Given the description of an element on the screen output the (x, y) to click on. 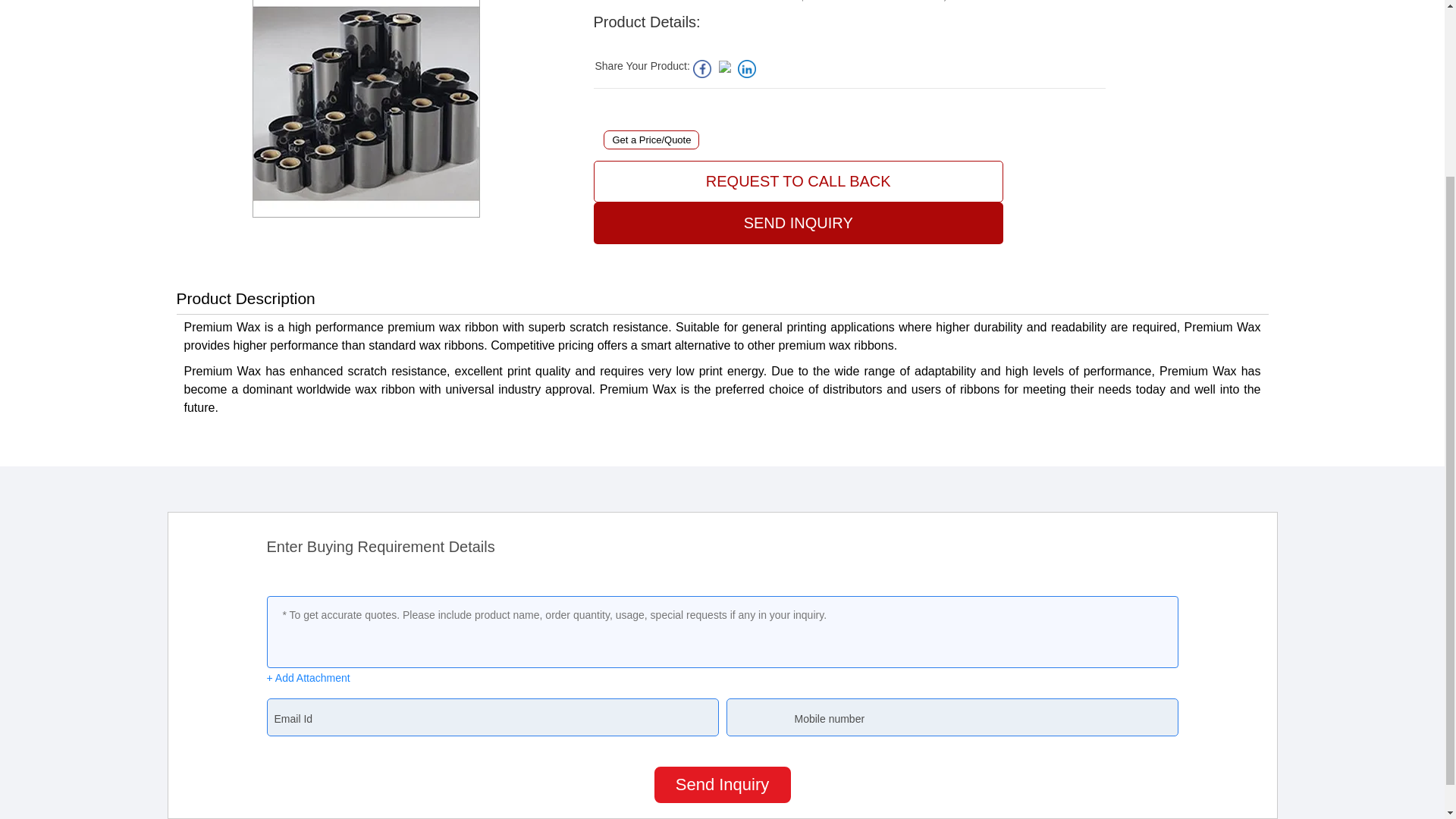
Wax, Premium Wax Ribbon Rolls (850, 1)
Home (604, 1)
Products (643, 1)
SEND INQUIRY (797, 223)
REQUEST TO CALL BACK (797, 181)
Send Inquiry (721, 784)
Thermal Transfer Ribbons (722, 1)
